Given the description of an element on the screen output the (x, y) to click on. 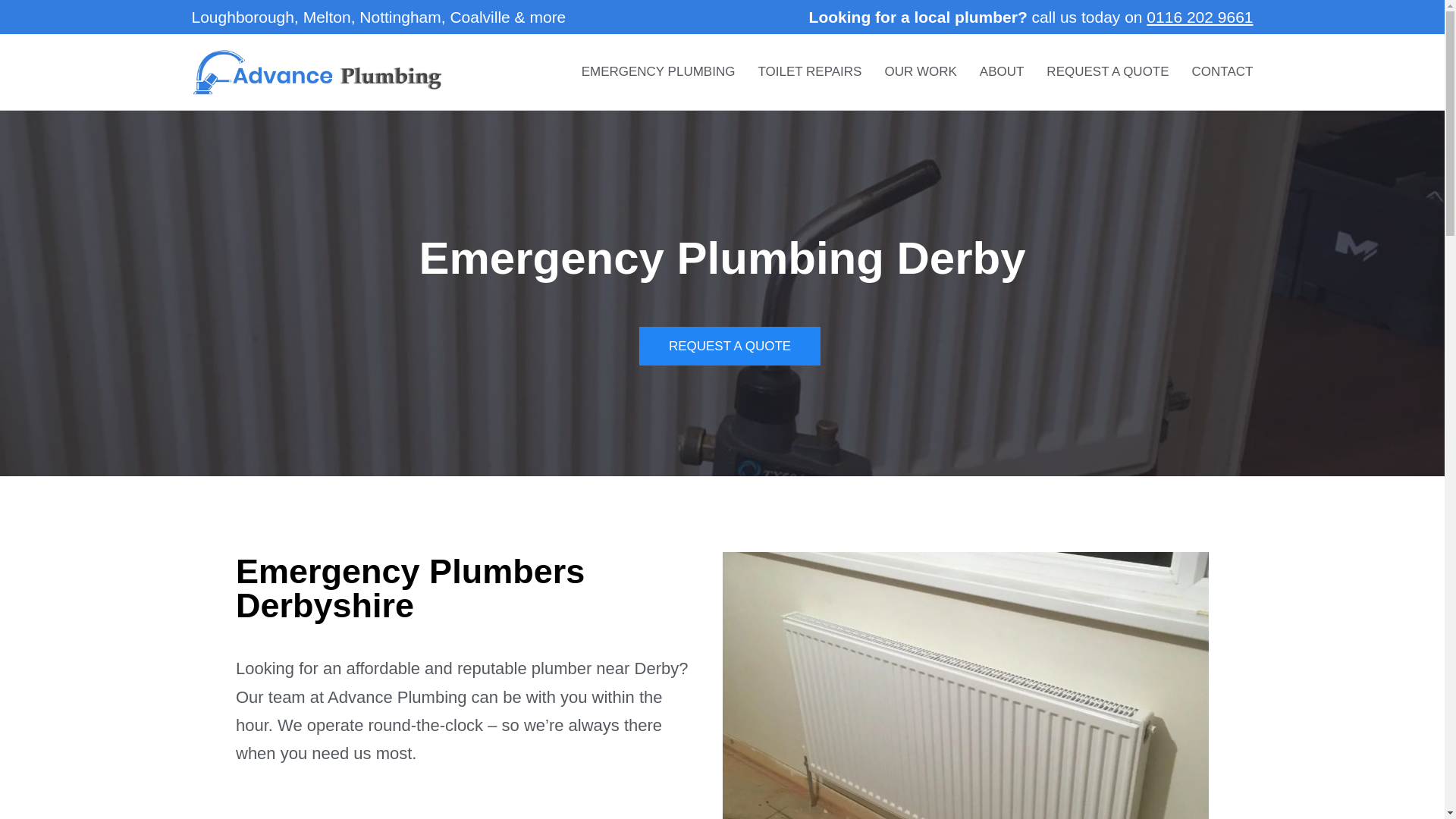
Looking for a local plumber? call us today on 0116 202 9661 (1031, 16)
Coalville (479, 16)
ABOUT (1002, 71)
OUR WORK (919, 71)
REQUEST A QUOTE (1107, 71)
EMERGENCY PLUMBING (657, 71)
Melton (326, 16)
Loughborough (242, 16)
Nottingham (400, 16)
TOILET REPAIRS (809, 71)
CONTACT (1222, 71)
REQUEST A QUOTE (730, 345)
